Given the description of an element on the screen output the (x, y) to click on. 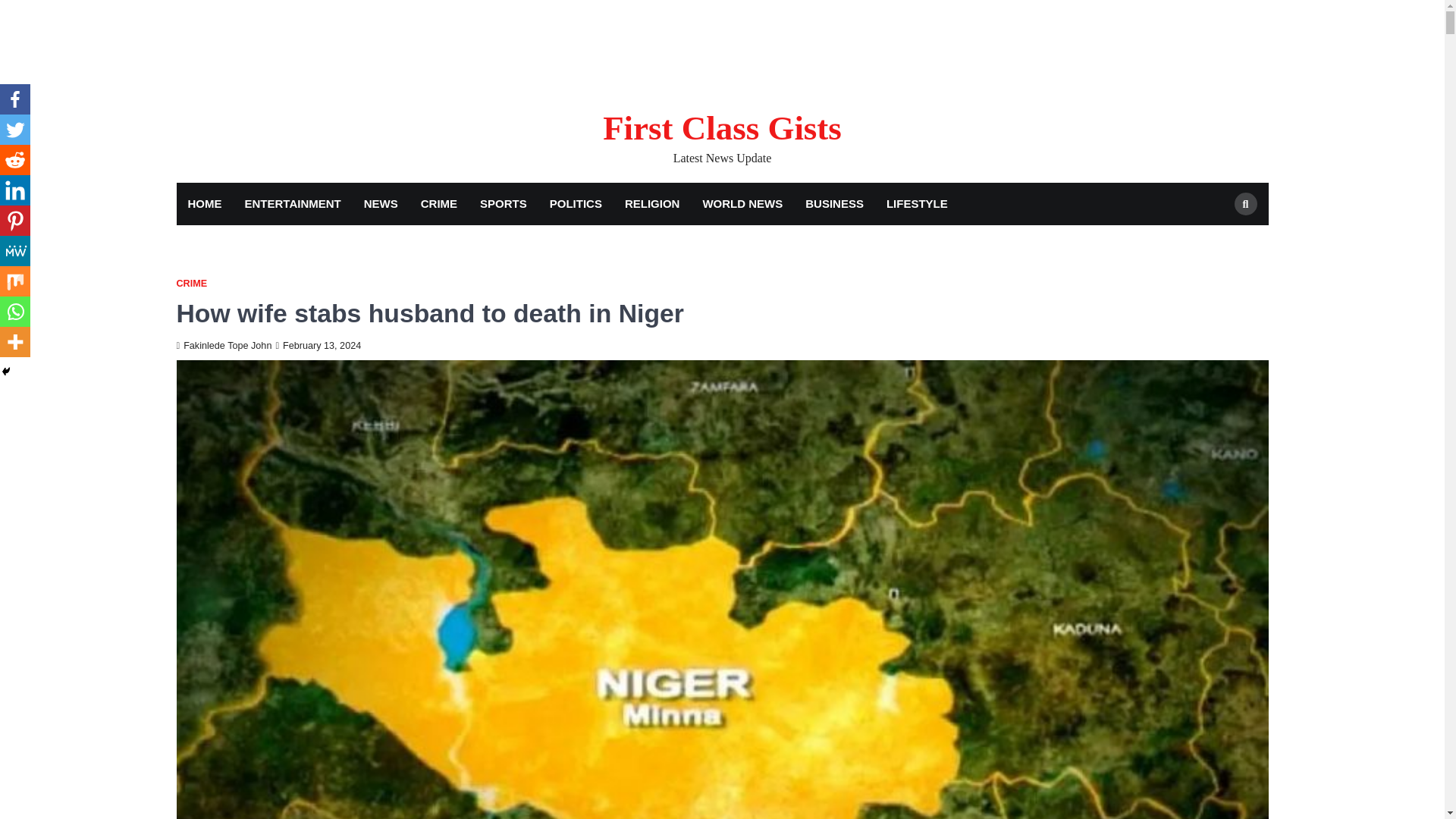
First Class Gists (721, 127)
RELIGION (651, 204)
ENTERTAINMENT (292, 204)
CRIME (438, 204)
HOME (204, 204)
CRIME (191, 283)
POLITICS (575, 204)
Search (1245, 203)
Search (1217, 239)
Fakinlede Tope John (223, 345)
SPORTS (503, 204)
NEWS (380, 204)
WORLD NEWS (741, 204)
BUSINESS (834, 204)
LIFESTYLE (917, 204)
